Given the description of an element on the screen output the (x, y) to click on. 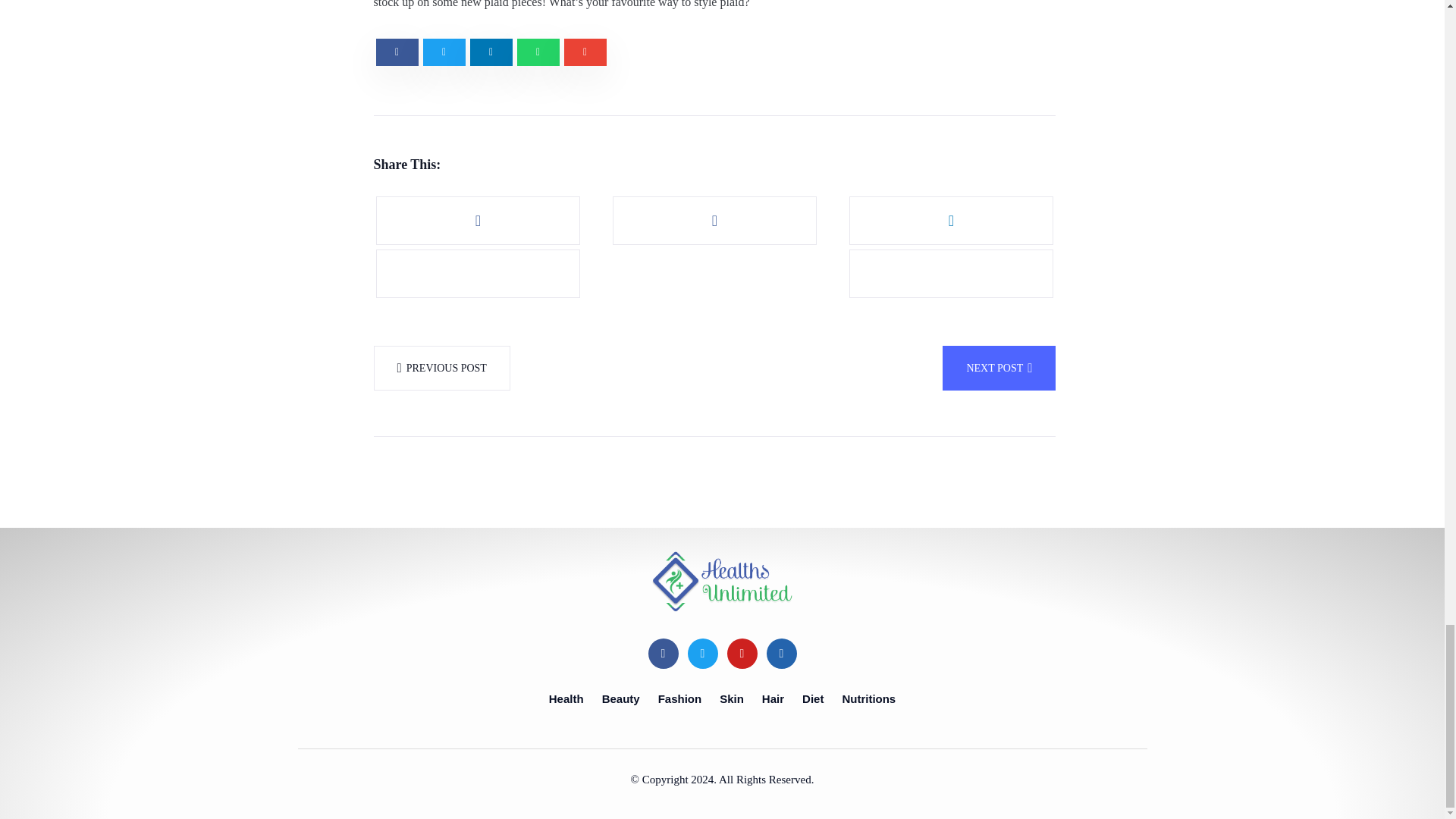
NEXT POST (998, 367)
PREVIOUS POST (440, 367)
